Given the description of an element on the screen output the (x, y) to click on. 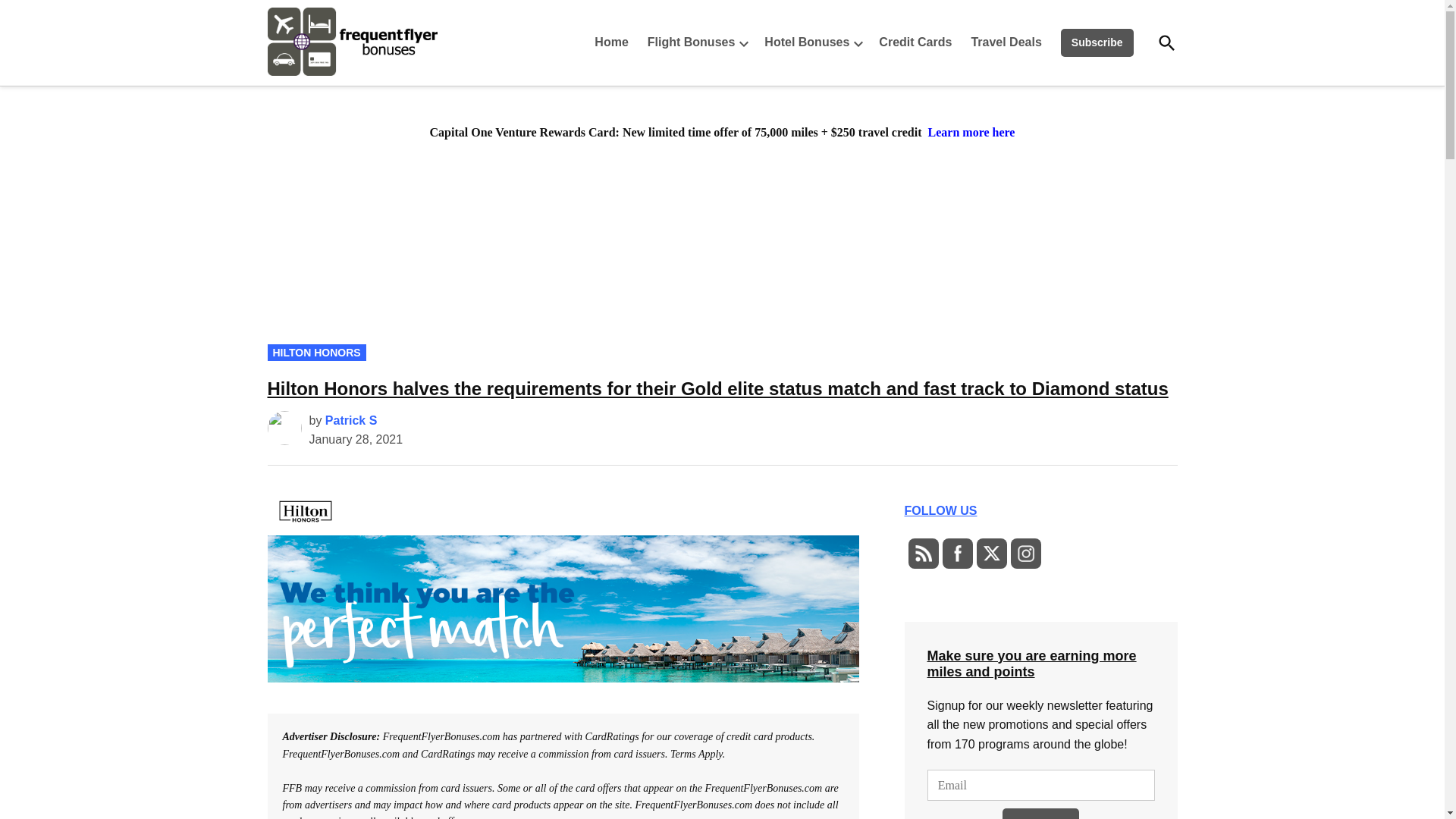
Flight Bonuses (687, 41)
Instagram (1025, 553)
Hotel Bonuses (802, 41)
Frequent Flyer Bonuses (483, 74)
RSS (922, 553)
Facebook (957, 553)
Home (614, 41)
Twitter (990, 553)
